Given the description of an element on the screen output the (x, y) to click on. 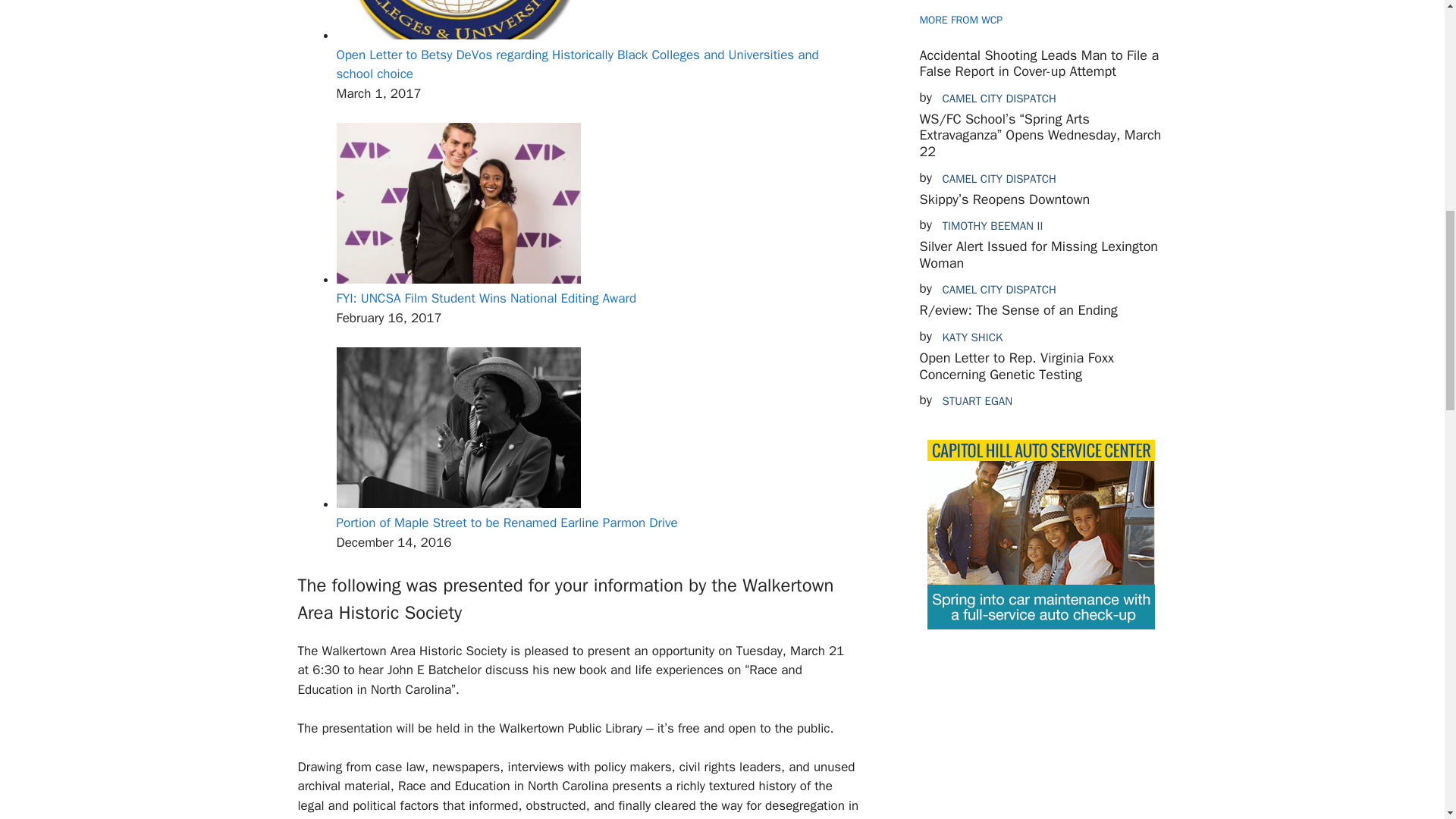
Portion of Maple Street to be Renamed Earline Parmon Drive (458, 503)
FYI: UNCSA Film Student Wins National Editing Award (458, 279)
